Given the description of an element on the screen output the (x, y) to click on. 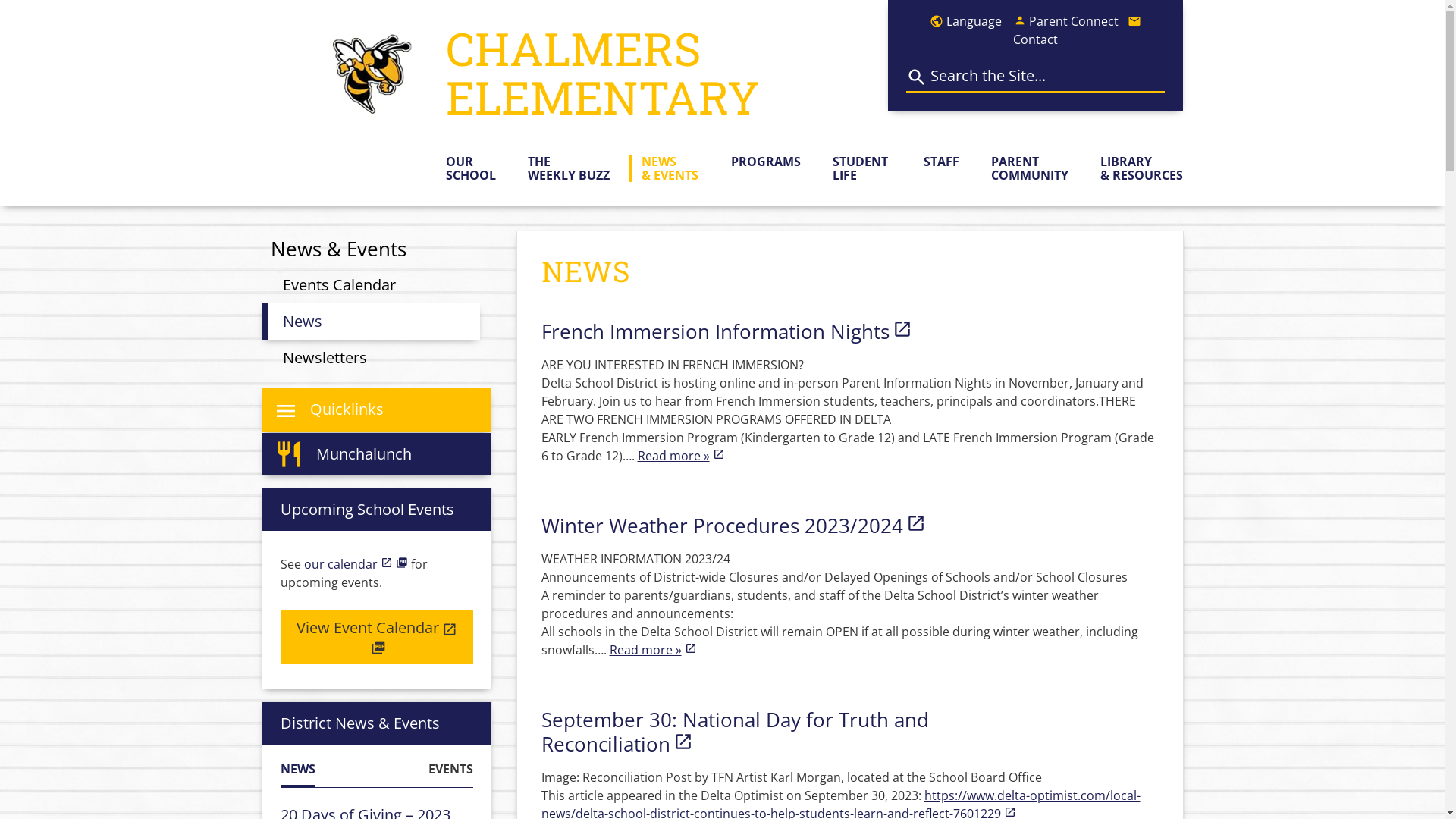
STAFF Element type: text (935, 161)
OUR 
SCHOOL Element type: text (470, 168)
LIBRARY 
& RESOURCES Element type: text (1135, 168)
NEWS 
& EVENTS Element type: text (663, 168)
PROGRAMS Element type: text (759, 161)
PARENT 
COMMUNITY Element type: text (1023, 168)
CHALMERS ELEMENTARY Element type: text (666, 72)
Newsletters Element type: text (324, 357)
News Element type: text (369, 321)
News & Events Element type: text (337, 248)
THE 
WEEKLY BUZZ Element type: text (562, 168)
Events Calendar Element type: text (338, 284)
STUDENT 
LIFE Element type: text (855, 168)
